Given the description of an element on the screen output the (x, y) to click on. 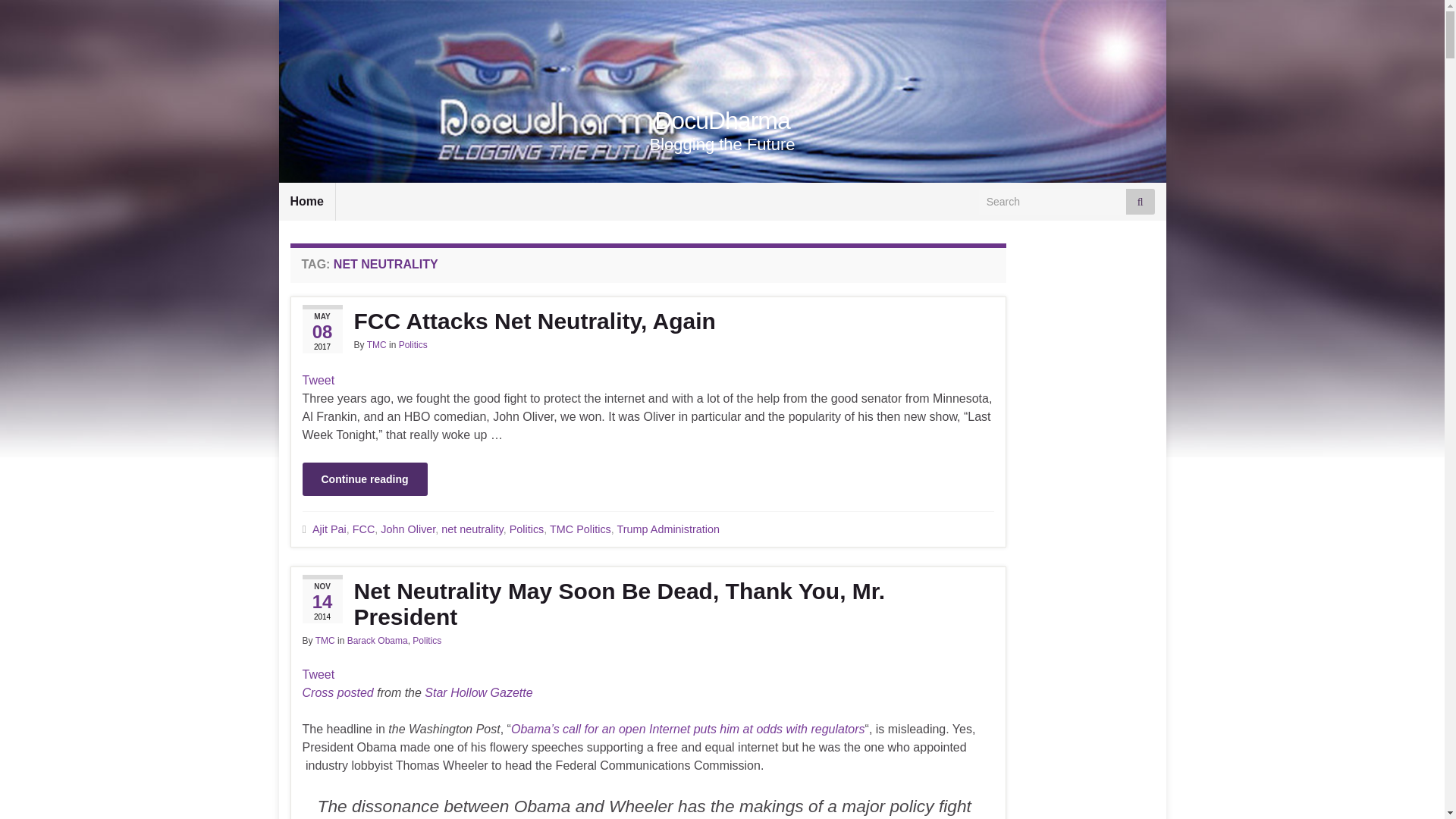
Cross posted (336, 692)
Star Hollow Gazette (478, 692)
Barack Obama (377, 640)
Politics (526, 529)
Home (306, 201)
Politics (413, 344)
TMC (376, 344)
Continue reading (363, 479)
net neutrality (471, 529)
FCC Attacks Net Neutrality, Again (647, 321)
